Given the description of an element on the screen output the (x, y) to click on. 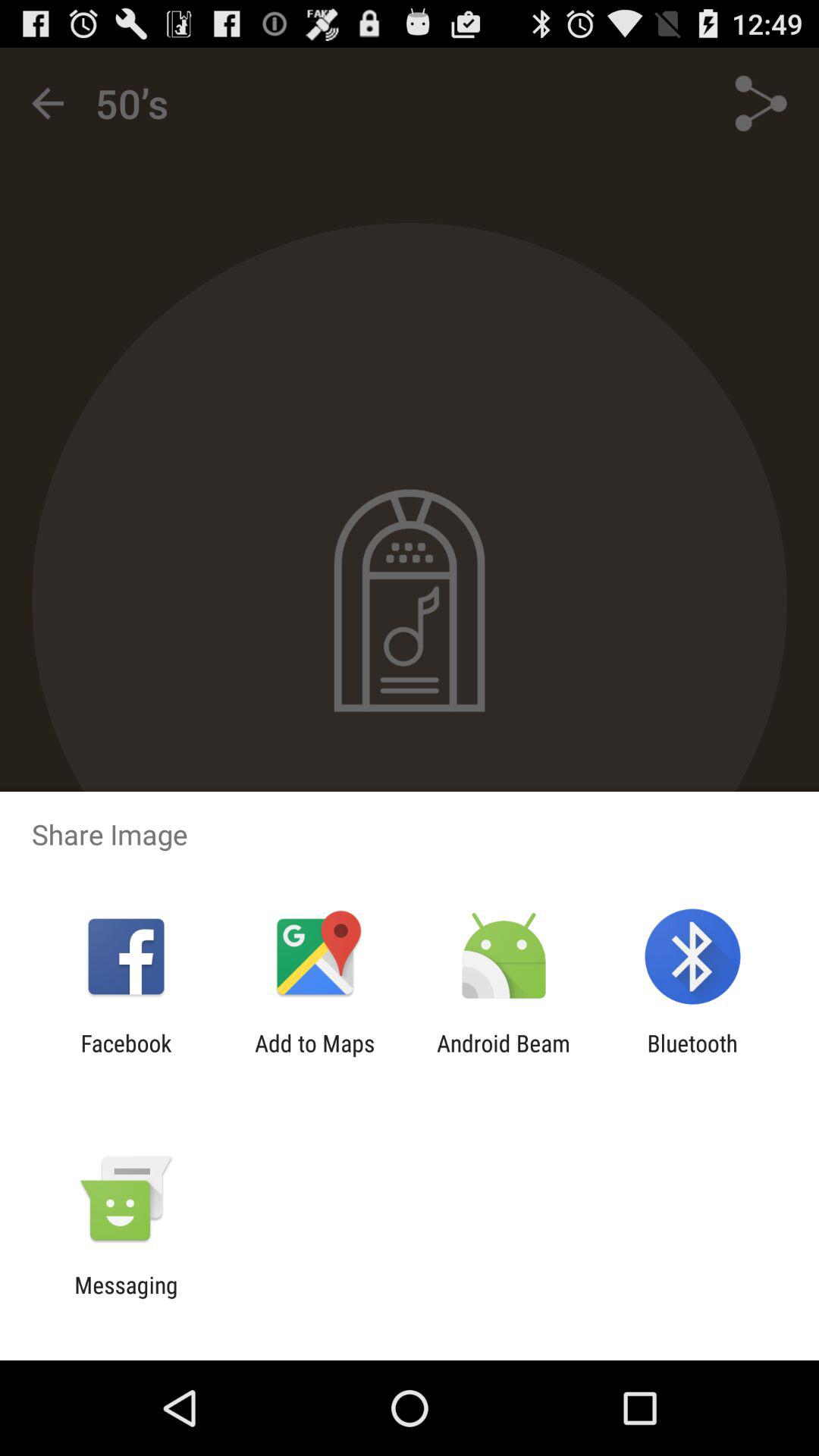
select add to maps icon (314, 1056)
